Given the description of an element on the screen output the (x, y) to click on. 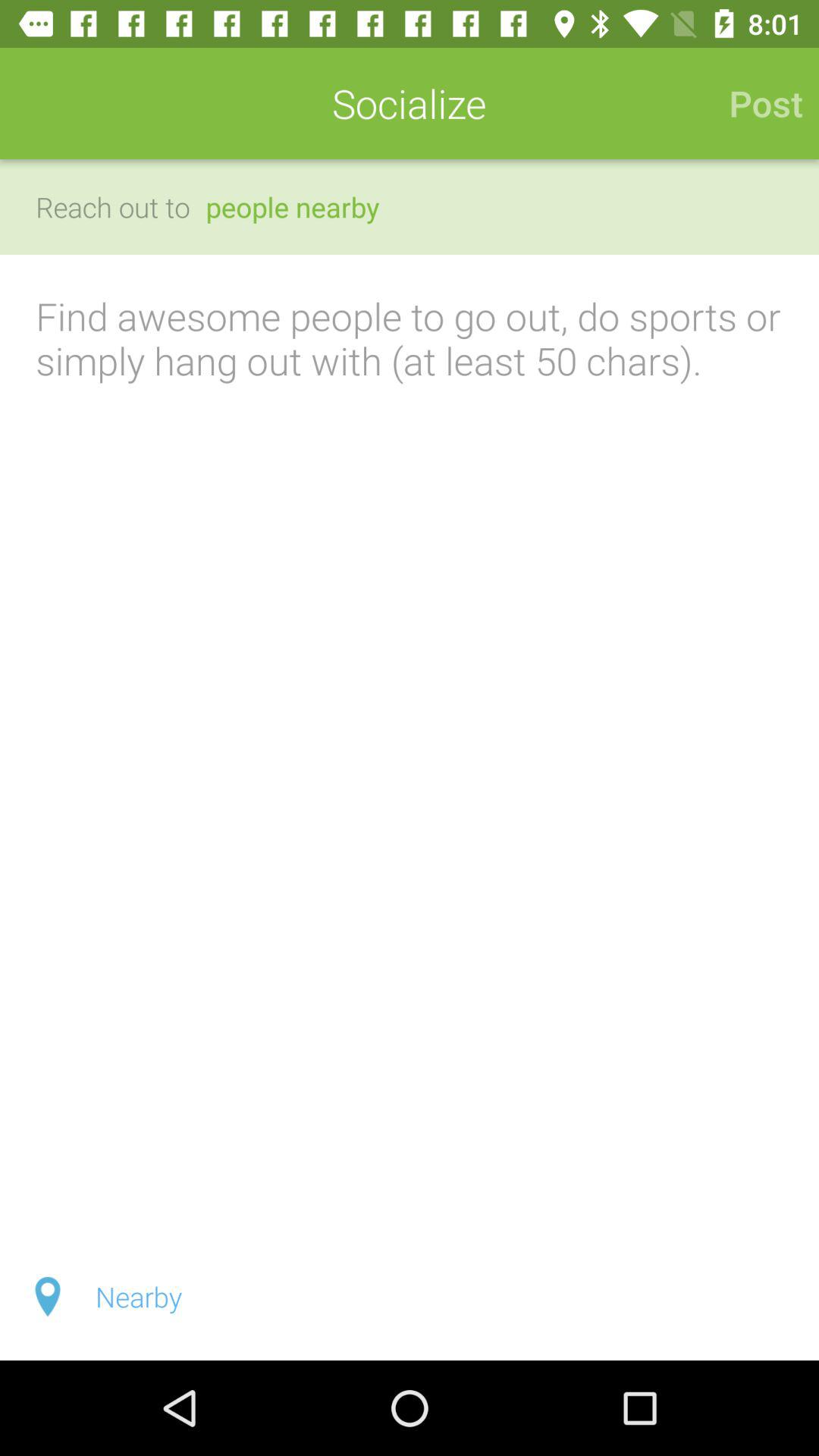
create a post of at least 50 characters (409, 743)
